Given the description of an element on the screen output the (x, y) to click on. 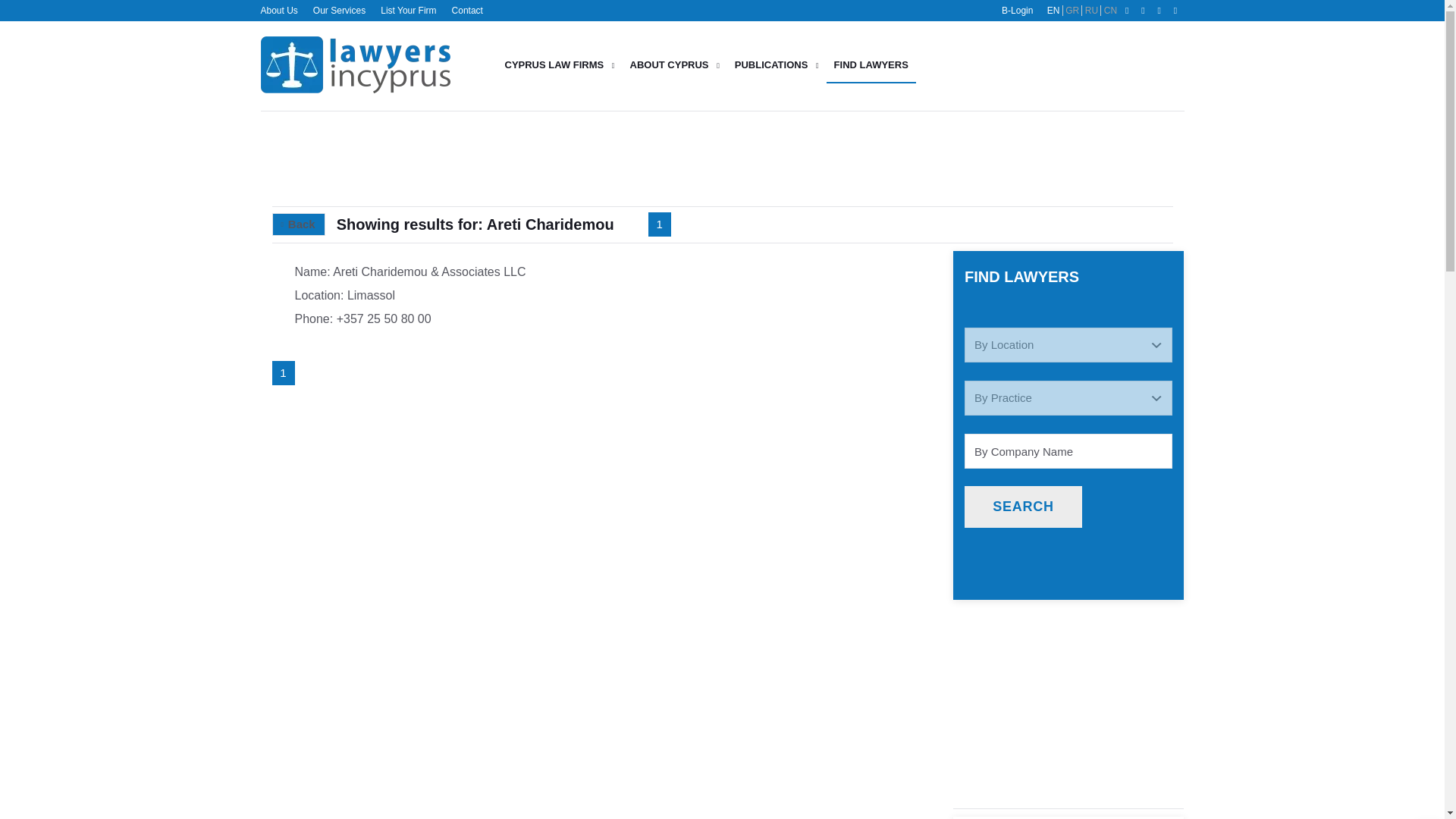
3rd party ad content (603, 158)
3rd party ad content (1068, 735)
3rd party ad content (1072, 158)
3rd party ad content (1072, 65)
3rd party ad content (1068, 648)
